Given the description of an element on the screen output the (x, y) to click on. 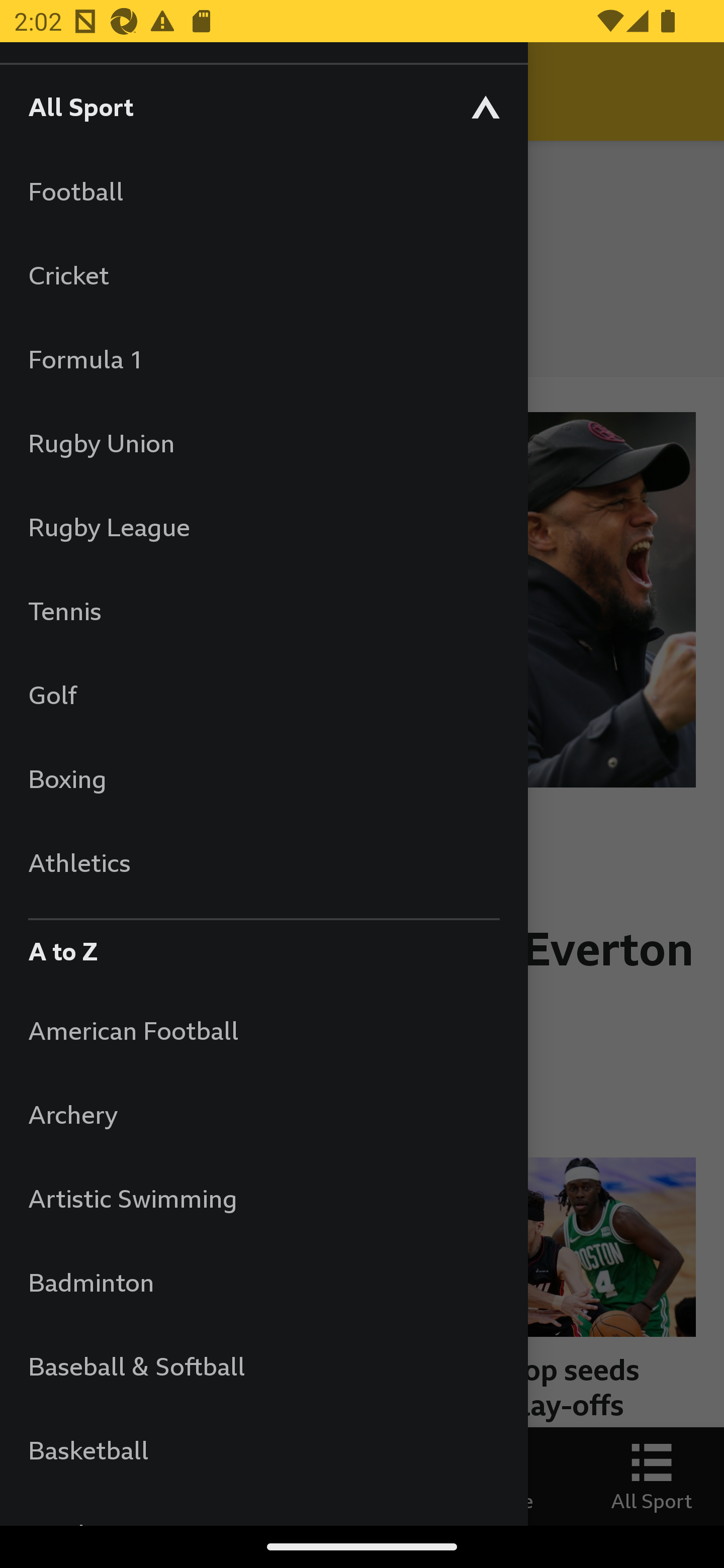
All Sport (263, 105)
Football (263, 190)
Cricket (263, 274)
Formula 1 (263, 358)
Rugby Union (263, 441)
Rugby League (263, 526)
Tennis (263, 609)
Golf (263, 694)
Boxing (263, 778)
Athletics (263, 862)
A to Z (263, 945)
American Football (263, 1029)
Archery (263, 1114)
Artistic Swimming (263, 1197)
Badminton (263, 1282)
Baseball & Softball (263, 1365)
Basketball (263, 1450)
